Given the description of an element on the screen output the (x, y) to click on. 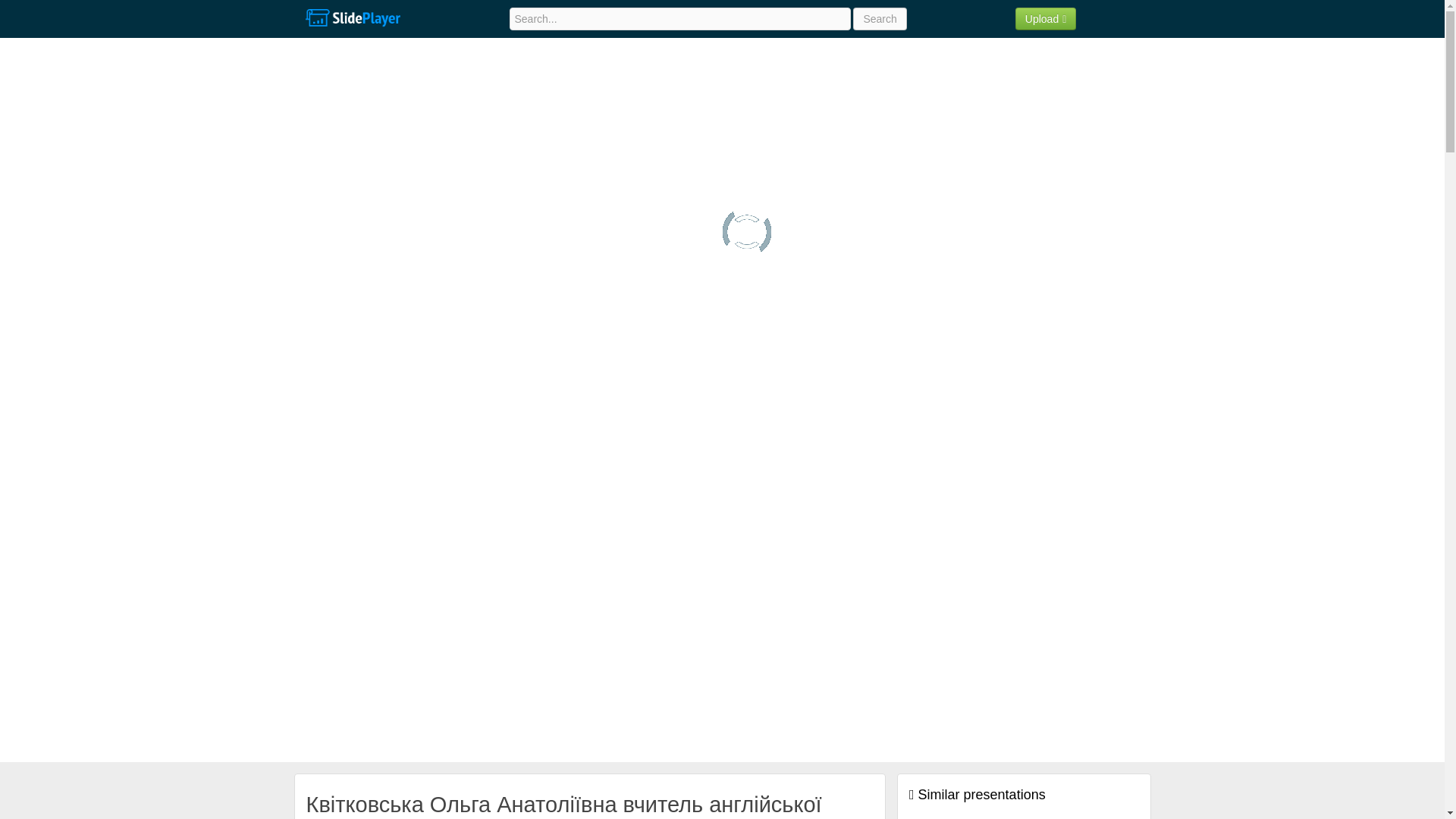
Presentation is loading. Please wait. (746, 232)
Search (879, 18)
Upload (1045, 18)
SlidePlayer (352, 18)
